Given the description of an element on the screen output the (x, y) to click on. 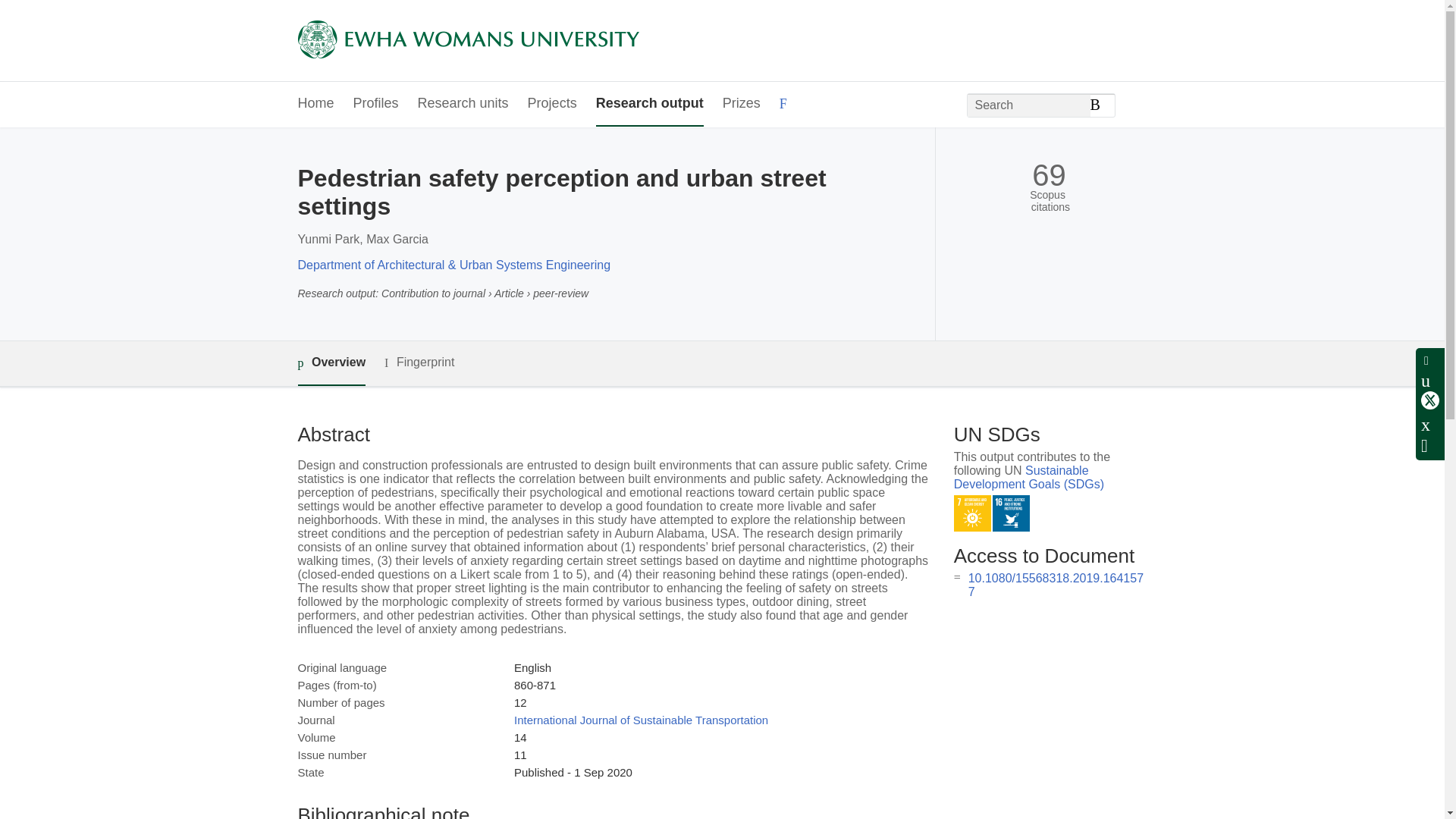
Ewha Womans University Home (468, 40)
Profiles (375, 103)
Research units (462, 103)
Fingerprint (419, 362)
Projects (551, 103)
SDG 16 - Peace, Justice and Strong Institutions (1010, 513)
SDG 7 - Affordable and Clean Energy (972, 513)
Overview (331, 363)
Research output (649, 103)
International Journal of Sustainable Transportation (640, 719)
